Given the description of an element on the screen output the (x, y) to click on. 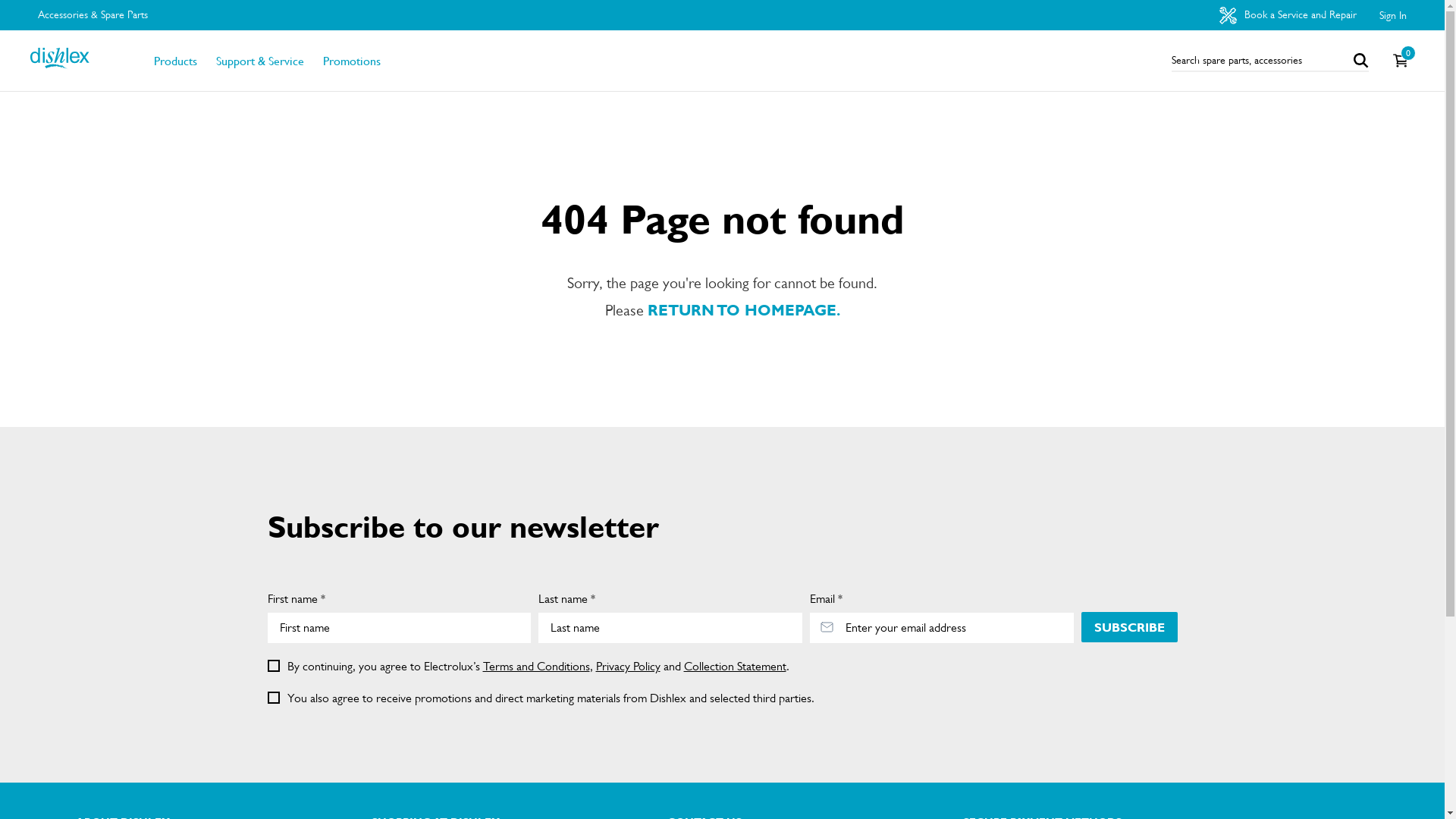
Promotions Element type: text (351, 60)
SUBSCRIBE Element type: text (1129, 626)
Submit Element type: text (20, 7)
Sign In Element type: text (1392, 15)
Privacy Policy Element type: text (628, 665)
Products Element type: text (175, 60)
Collection Statement Element type: text (735, 665)
Book a Service and Repair Element type: text (1287, 15)
RETURN TO HOMEPAGE. Element type: text (743, 310)
Accessories & Spare Parts Element type: text (92, 14)
Support & Service Element type: text (260, 60)
Terms and Conditions Element type: text (535, 665)
